Given the description of an element on the screen output the (x, y) to click on. 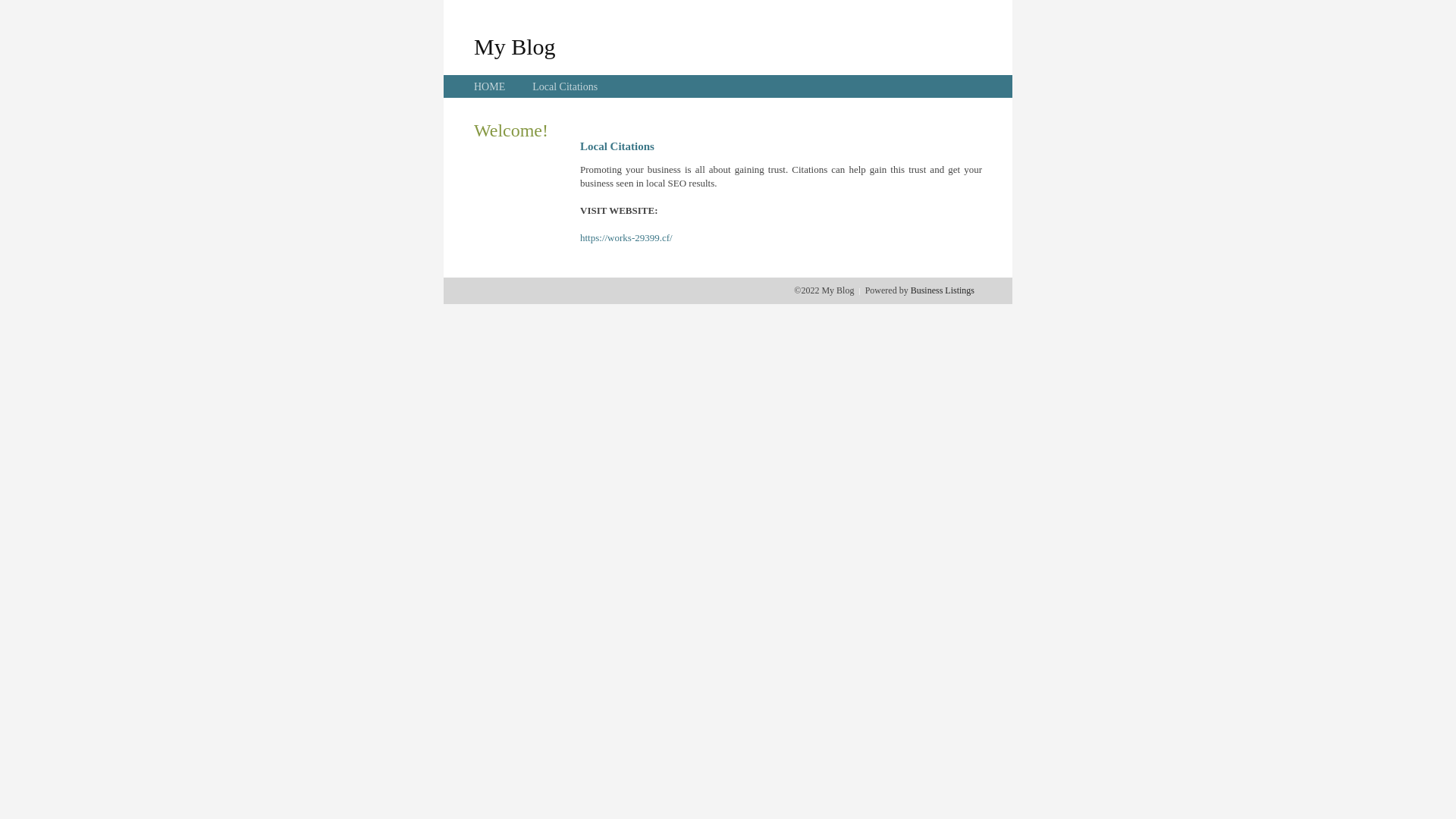
Business Listings Element type: text (942, 290)
My Blog Element type: text (514, 46)
https://works-29399.cf/ Element type: text (626, 237)
Local Citations Element type: text (564, 86)
HOME Element type: text (489, 86)
